Given the description of an element on the screen output the (x, y) to click on. 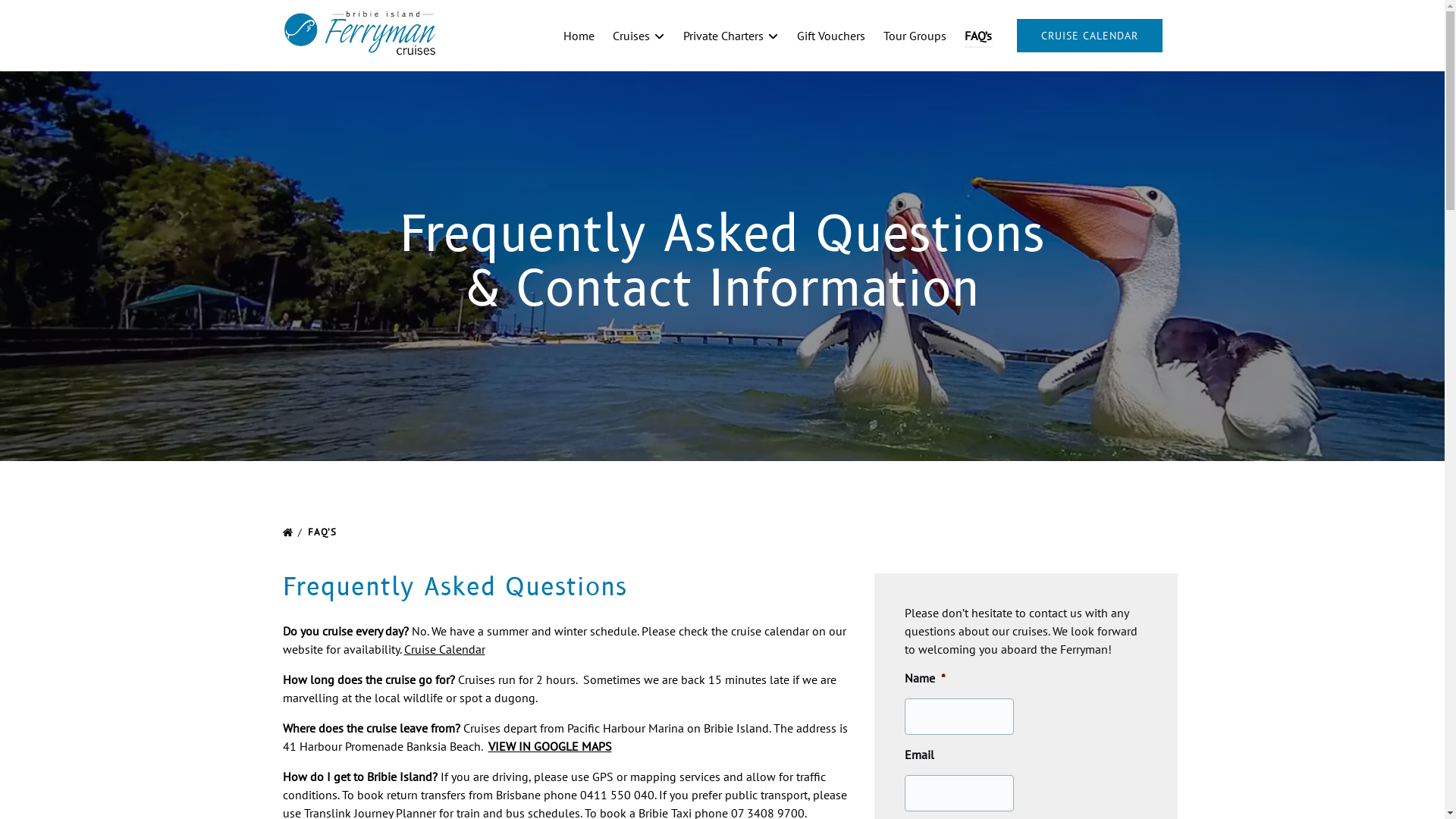
Cruises Element type: text (638, 35)
Tour Groups Element type: text (914, 35)
VIEW IN GOOGLE MAPS Element type: text (549, 745)
Skip to content Element type: text (46, 16)
CRUISE CALENDAR Element type: text (1088, 35)
Gift Vouchers Element type: text (830, 35)
Home Element type: text (578, 35)
Skip to primary navigation Element type: text (75, 16)
Skip to footer Element type: text (42, 16)
Cruise Calendar Element type: text (443, 648)
Private Charters Element type: text (730, 35)
